Given the description of an element on the screen output the (x, y) to click on. 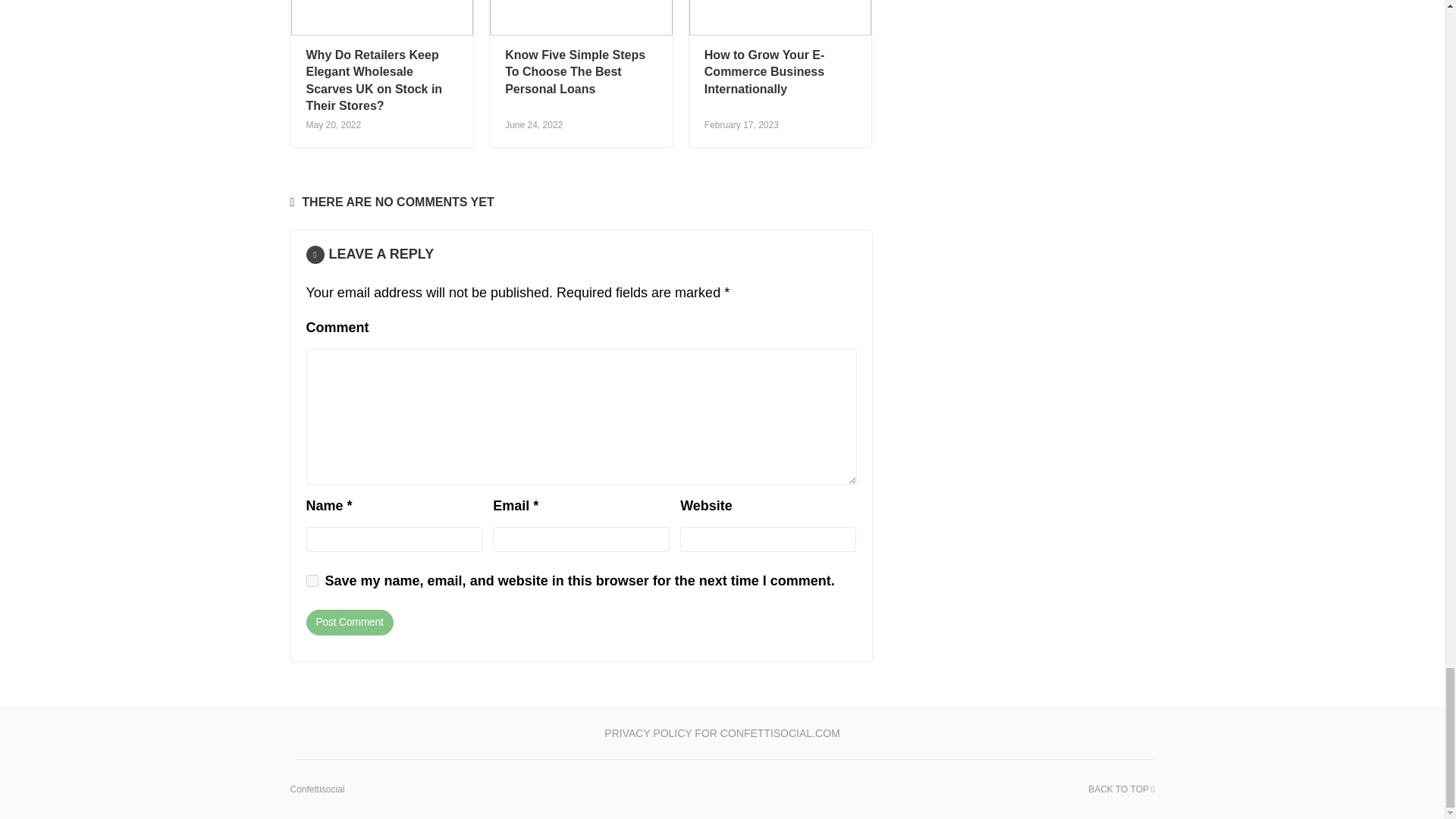
Post Comment (349, 622)
BACK TO TOP  (1120, 789)
Post Comment (349, 622)
yes (311, 580)
How to Grow Your E-Commerce Business Internationally (764, 71)
Know Five Simple Steps To Choose The Best Personal Loans (575, 71)
